Given the description of an element on the screen output the (x, y) to click on. 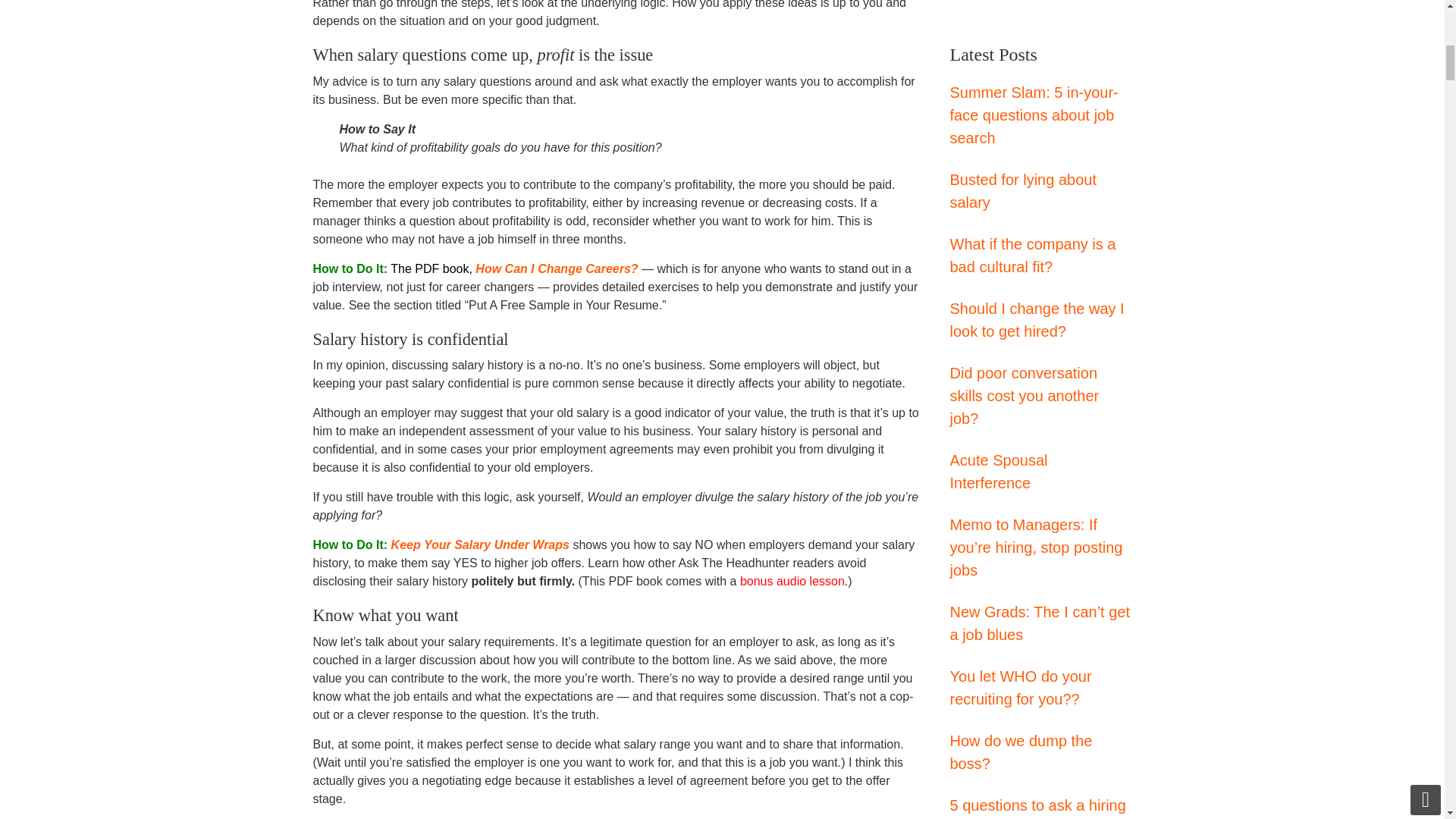
How Can I Change Careers? (556, 268)
Keep Your Salary Under Wraps (480, 544)
